Given the description of an element on the screen output the (x, y) to click on. 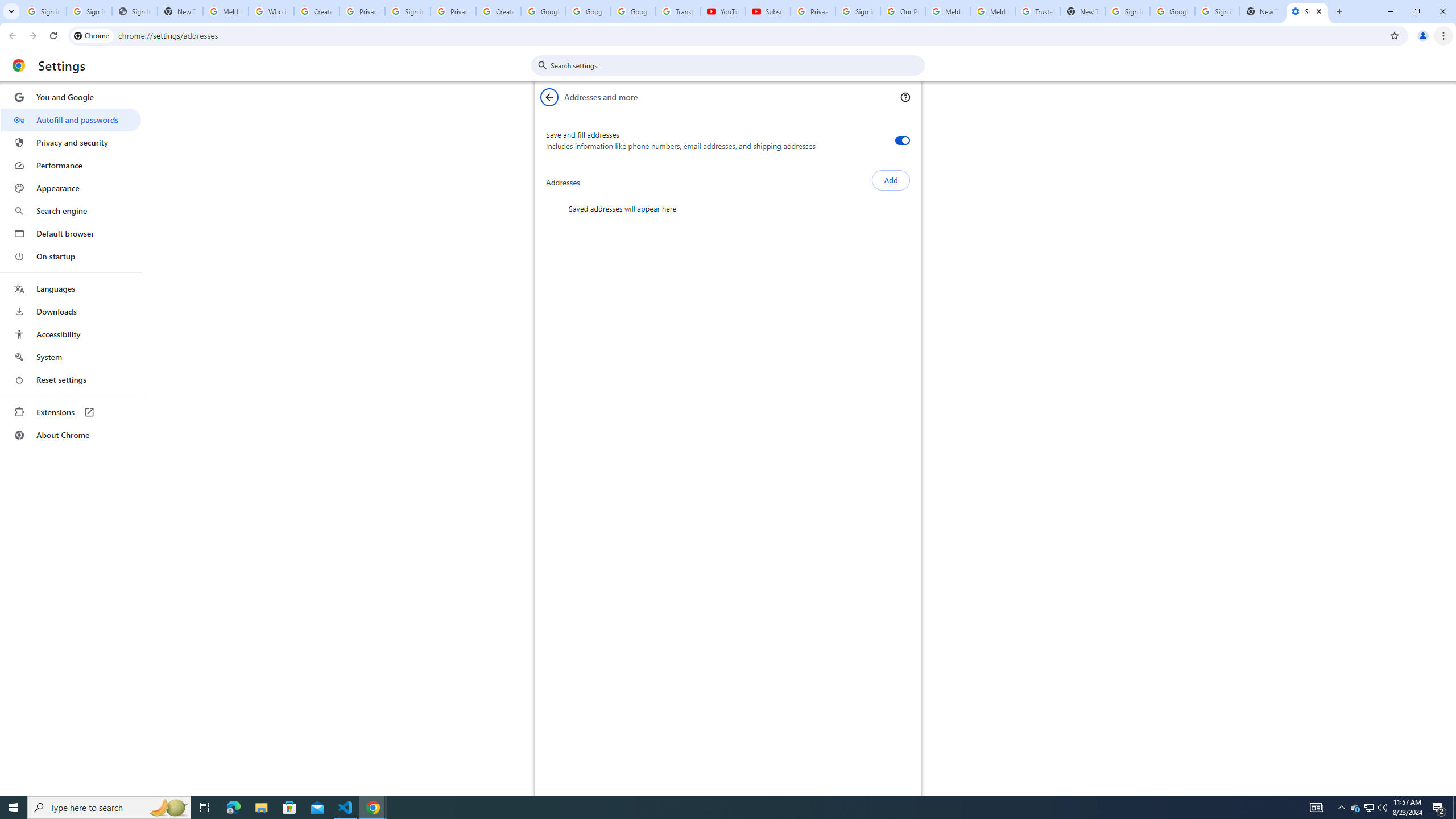
Google Cybersecurity Innovations - Google Safety Center (1171, 11)
Sign in - Google Accounts (407, 11)
Default browser (70, 233)
Privacy and security (70, 142)
Google Account (633, 11)
Performance (70, 164)
About Chrome (70, 434)
On startup (70, 255)
Downloads (70, 311)
Extensions (70, 412)
Sign in - Google Accounts (857, 11)
YouTube (723, 11)
Sign in - Google Accounts (1126, 11)
